Given the description of an element on the screen output the (x, y) to click on. 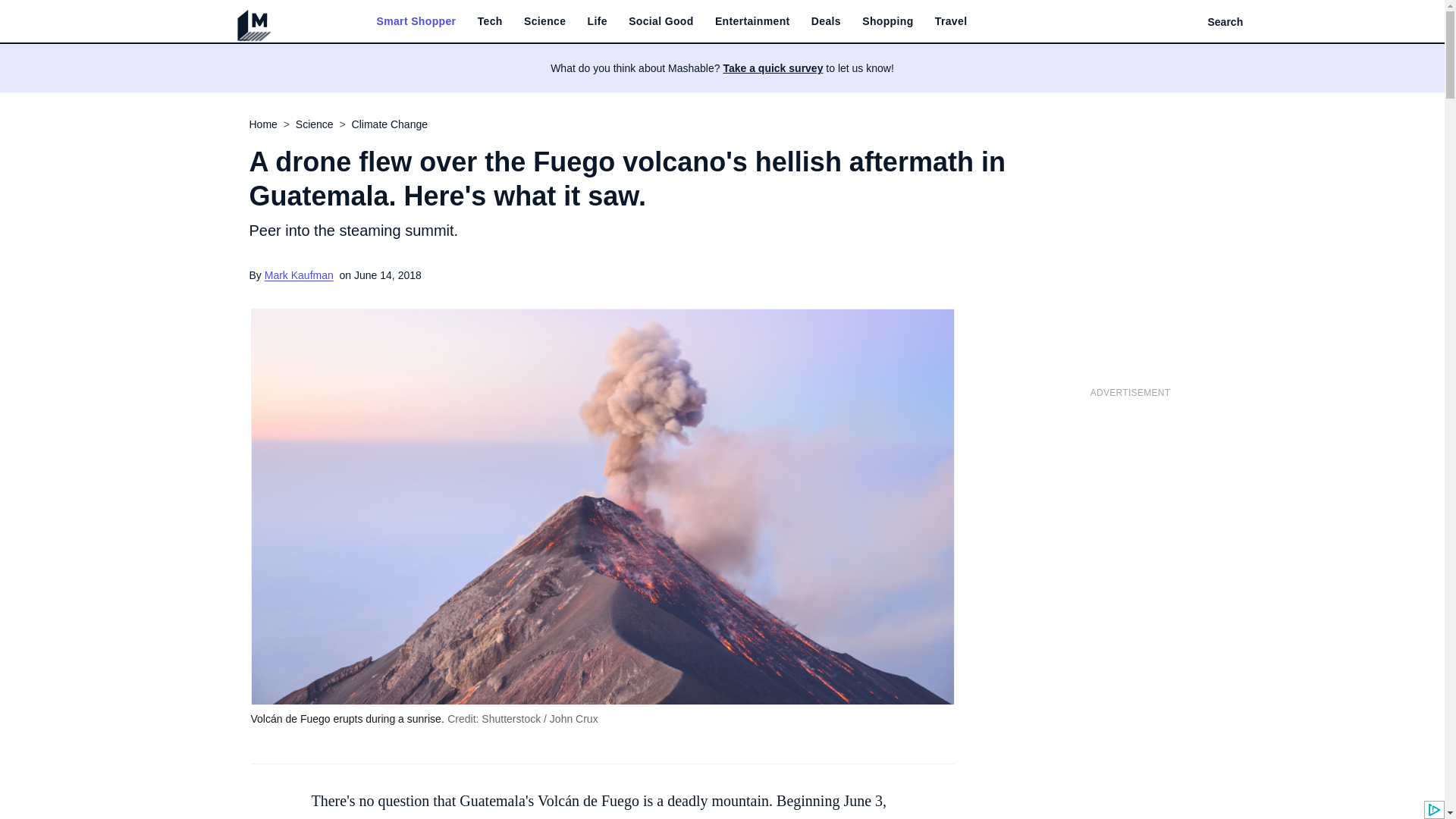
Entertainment (752, 21)
Life (597, 21)
Shopping (886, 21)
Travel (951, 21)
Deals (825, 21)
Tech (489, 21)
Social Good (661, 21)
Smart Shopper (415, 21)
Science (545, 21)
